Given the description of an element on the screen output the (x, y) to click on. 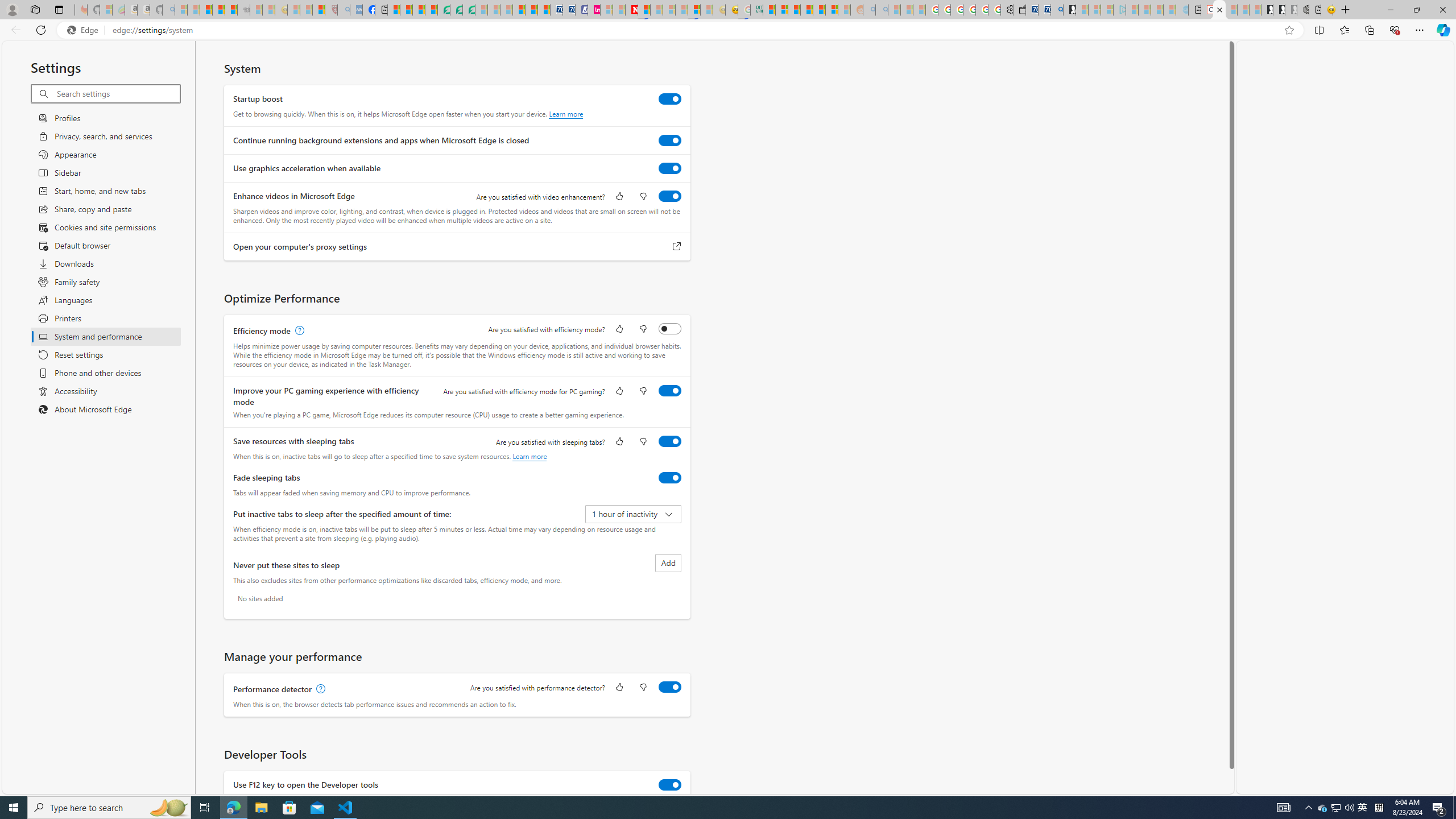
Performance detector (669, 686)
Add site to never put these sites to sleep list (668, 562)
Learn more (529, 456)
Microsoft Word - consumer-privacy address update 2.2021 (468, 9)
